Given the description of an element on the screen output the (x, y) to click on. 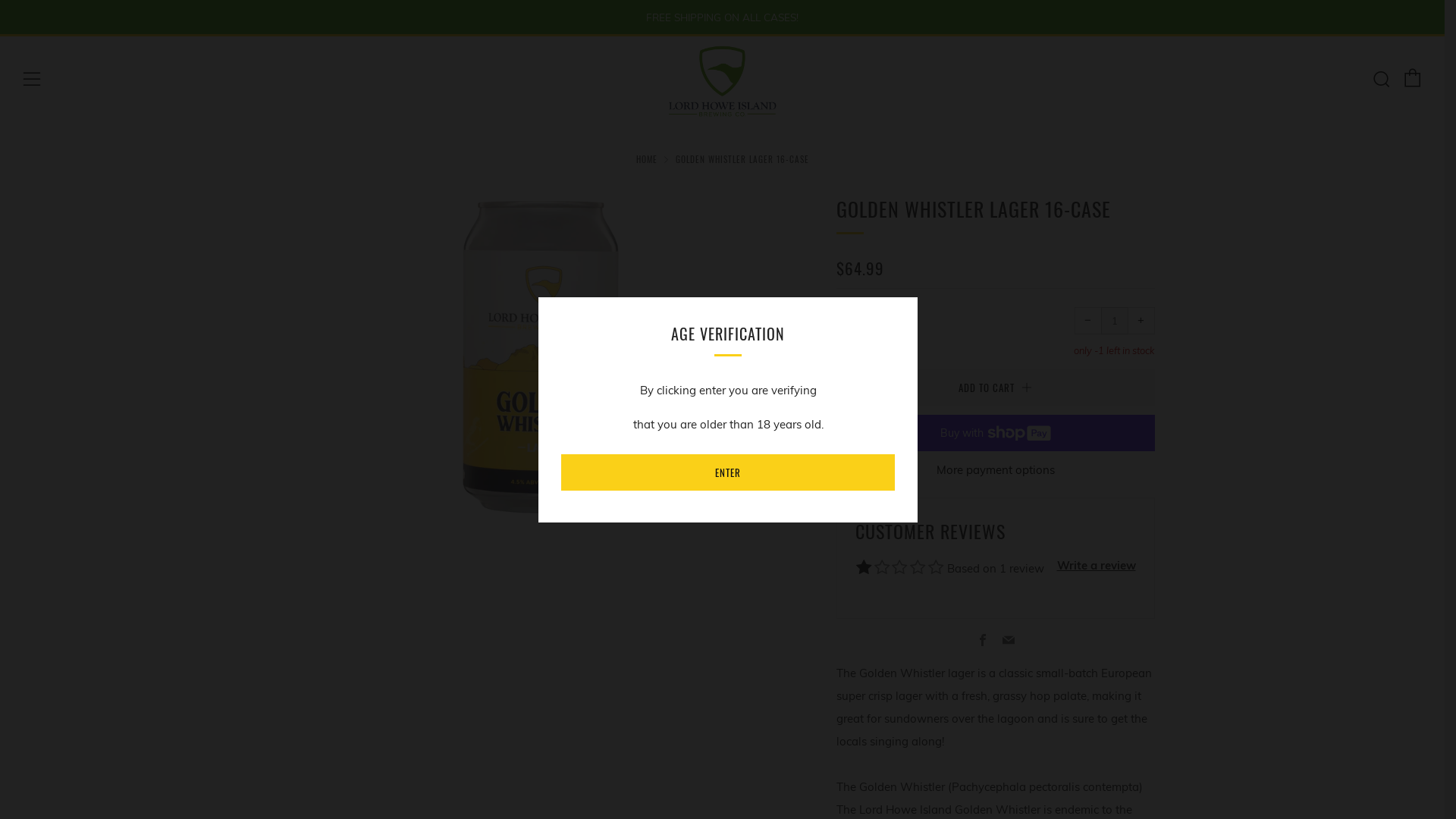
HOME Element type: text (645, 159)
ADD TO CART Element type: text (994, 387)
Write a review Element type: text (1096, 565)
Email Element type: text (1008, 640)
+
Increase item quantity by one Element type: text (1140, 320)
ENTER Element type: text (727, 471)
Facebook Element type: text (982, 640)
Menu Element type: text (31, 79)
More payment options Element type: text (994, 469)
Search Element type: text (1380, 78)
Cart Element type: text (1412, 78)
